Given the description of an element on the screen output the (x, y) to click on. 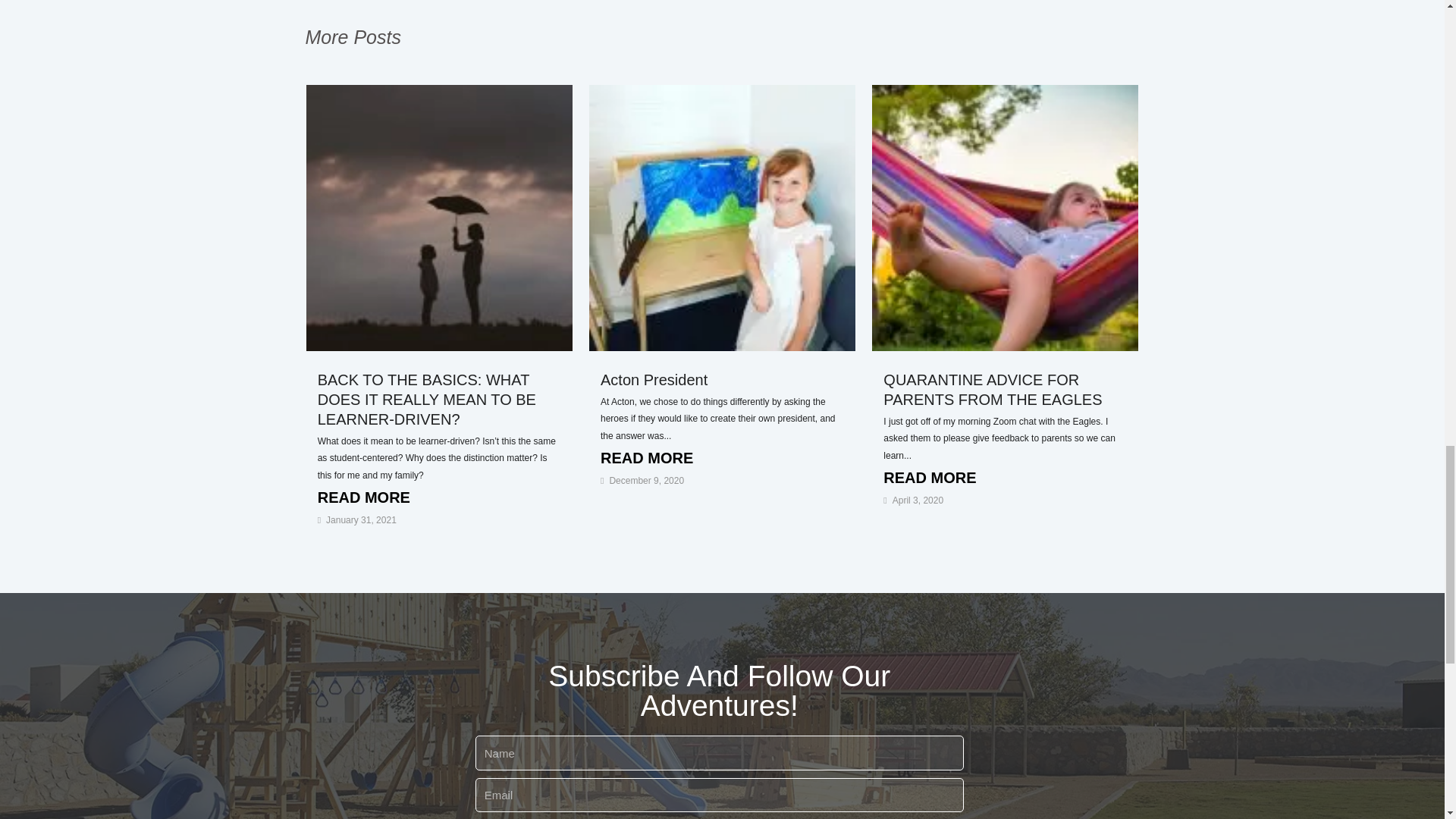
QUARANTINE ADVICE FOR PARENTS FROM THE EAGLES (992, 389)
READ MORE (438, 497)
READ MORE (1004, 478)
READ MORE (721, 458)
QUARANTINE ADVICE FOR PARENTS FROM THE EAGLES (992, 389)
Acton President (653, 379)
Acton President (653, 379)
